Given the description of an element on the screen output the (x, y) to click on. 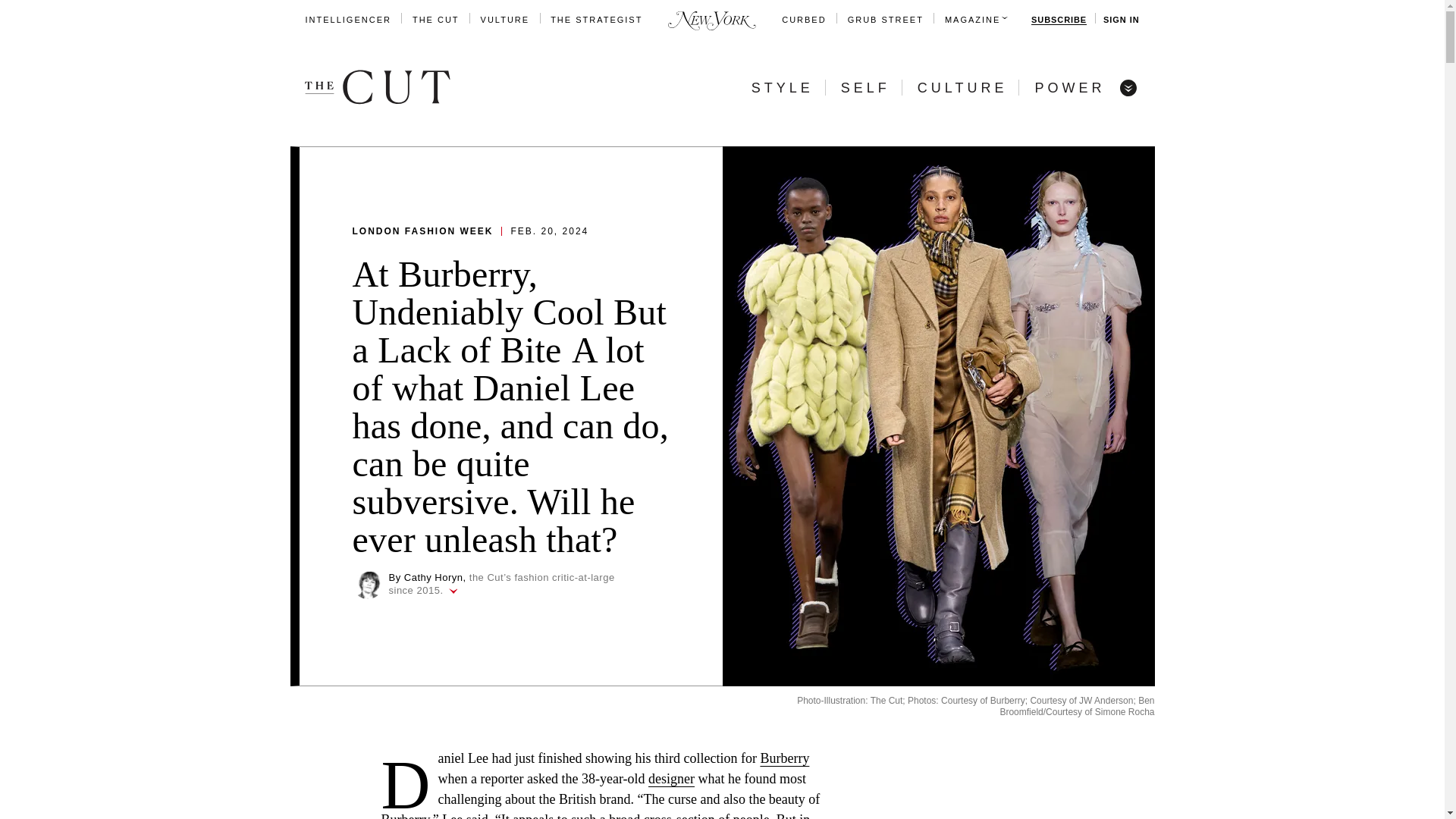
CURBED (803, 19)
INTELLIGENCER (347, 19)
SUBSCRIBE (1058, 19)
POWER (1069, 87)
MAGAZINE (972, 19)
VULTURE (504, 19)
CULTURE (962, 87)
Menu (1127, 87)
THE STRATEGIST (596, 19)
GRUB STREET (885, 19)
THE CUT (436, 19)
SIGN IN (1120, 19)
STYLE (782, 87)
SELF (865, 87)
